Given the description of an element on the screen output the (x, y) to click on. 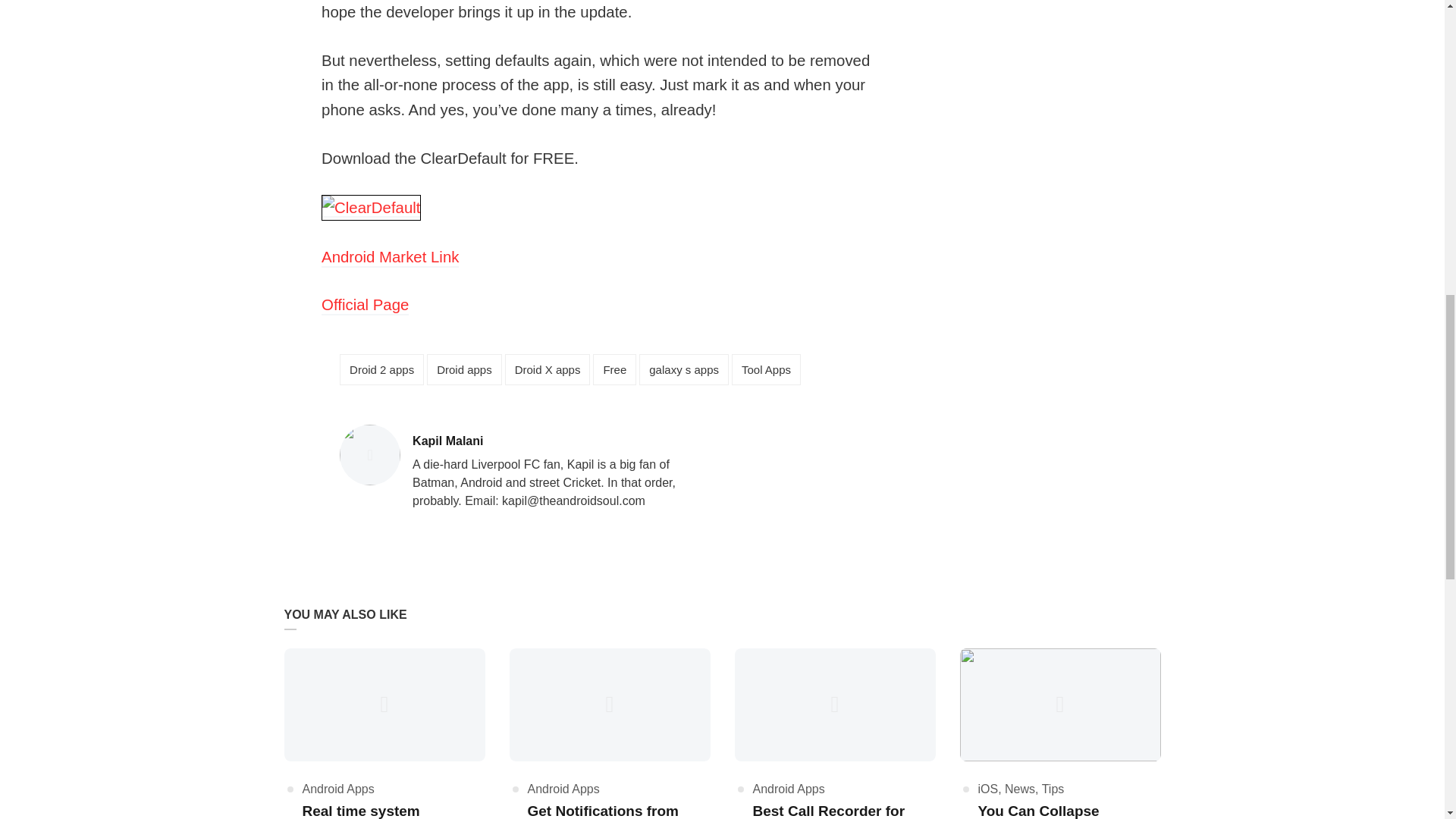
ClearDefault (370, 207)
Tips (1053, 788)
galaxy s apps (684, 368)
Tool Apps (766, 368)
Android Apps (337, 788)
Android Apps (788, 788)
Free (614, 368)
Droid apps (464, 368)
Android Market Link (389, 257)
Droid 2 apps (381, 368)
iOS (564, 441)
Official Page (988, 788)
Android Apps (365, 305)
News (563, 788)
